Given the description of an element on the screen output the (x, y) to click on. 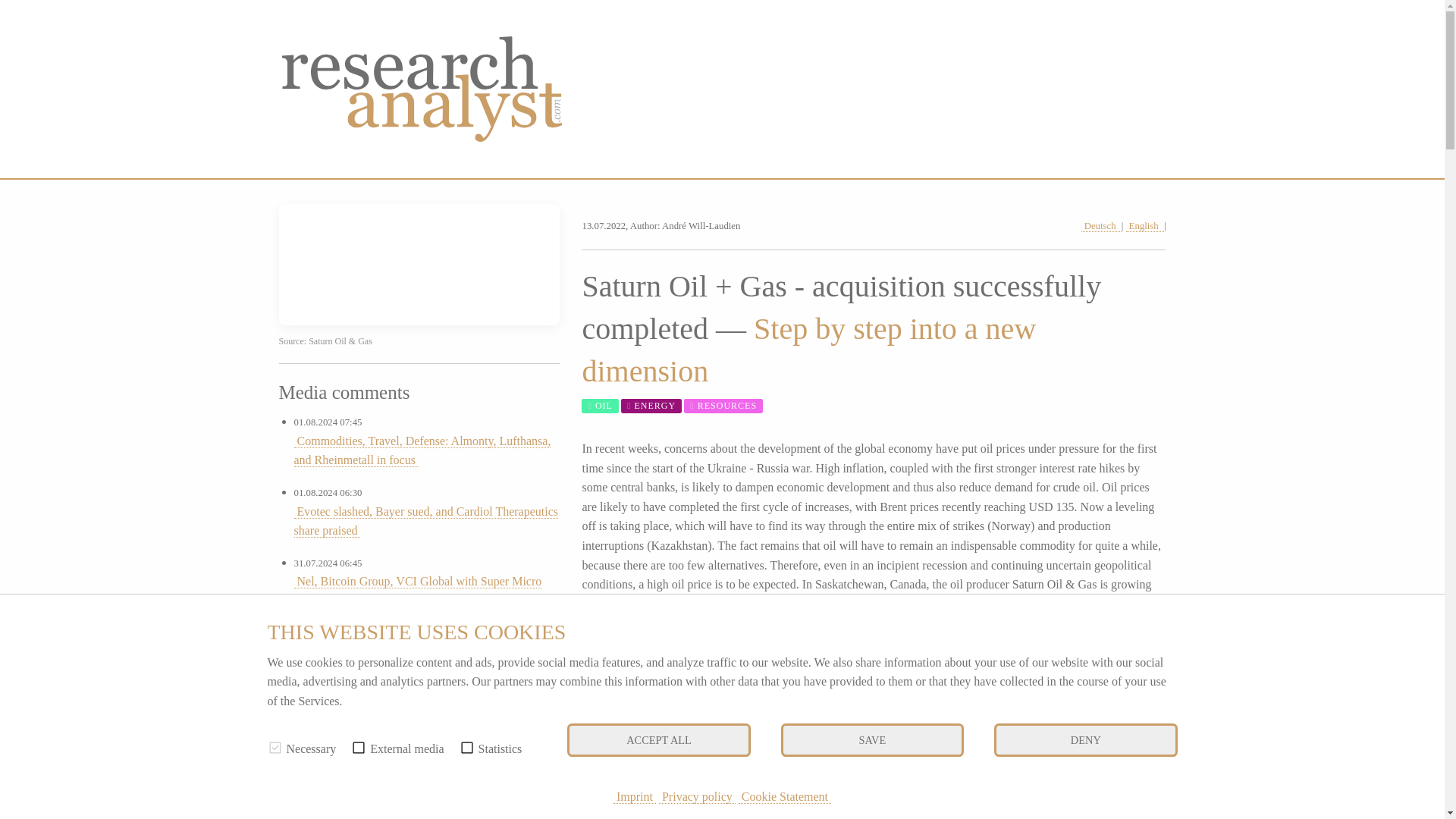
SUBSCRIBE NOW FOR FREE (690, 747)
English (1144, 225)
ACCEPT ALL (658, 740)
Privacy policy (697, 796)
SAVE (871, 740)
Cookie Statement (784, 796)
Deutsch (1101, 225)
DENY (1085, 740)
Imprint (634, 796)
